Given the description of an element on the screen output the (x, y) to click on. 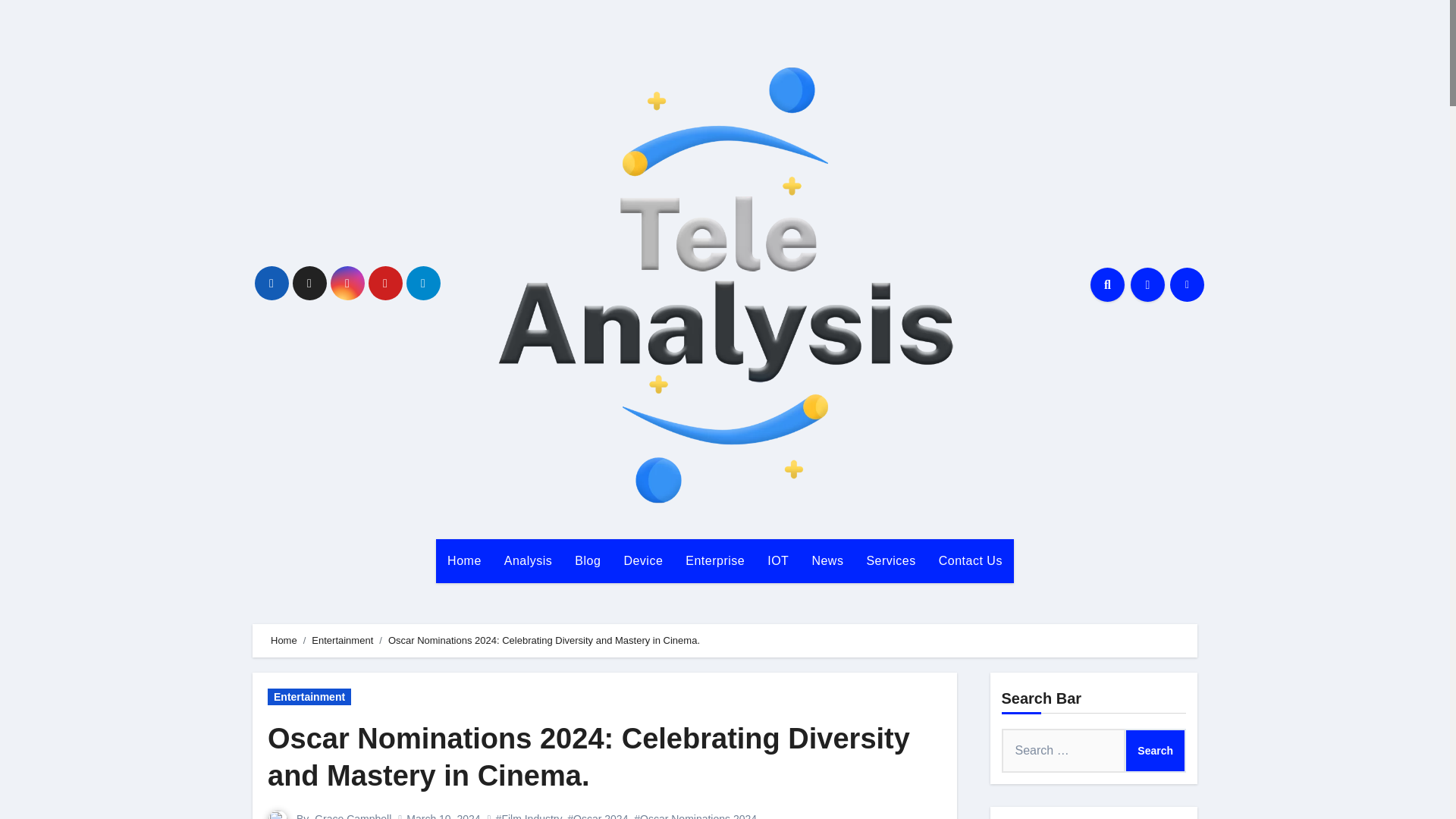
Enterprise (714, 560)
Analysis (528, 560)
Analysis (528, 560)
Blog (587, 560)
Grace Campbell (352, 816)
IOT (777, 560)
March 10, 2024 (443, 816)
Home (464, 560)
News (826, 560)
Contact Us (970, 560)
